Given the description of an element on the screen output the (x, y) to click on. 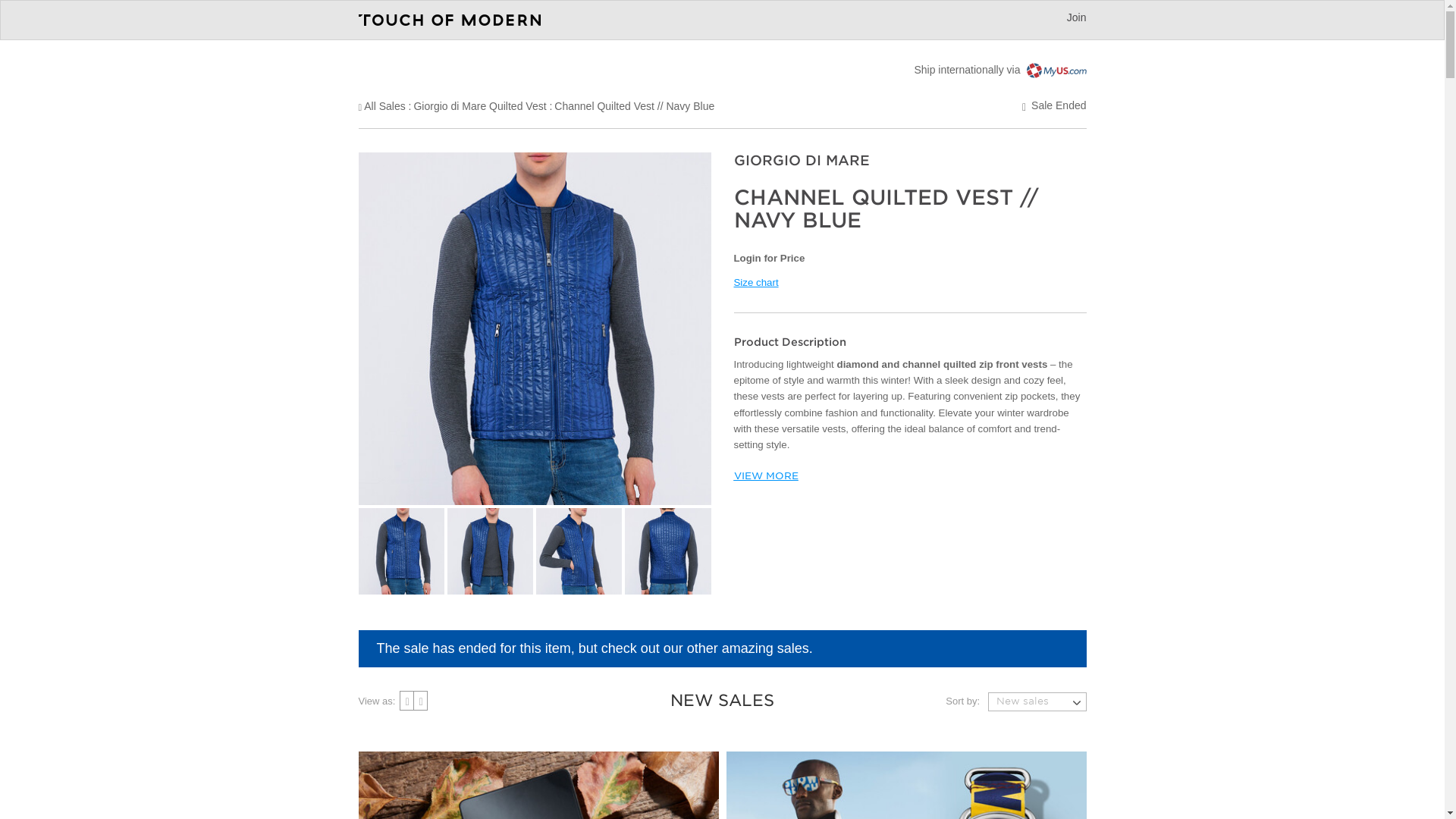
Giorgio di Mare Quilted Vest (479, 105)
All Sales (384, 105)
Join (1076, 17)
Giorgio di Mare Quilted Vest (479, 105)
Ship internationally via (1000, 69)
Size chart (755, 282)
All Sales (384, 105)
